Given the description of an element on the screen output the (x, y) to click on. 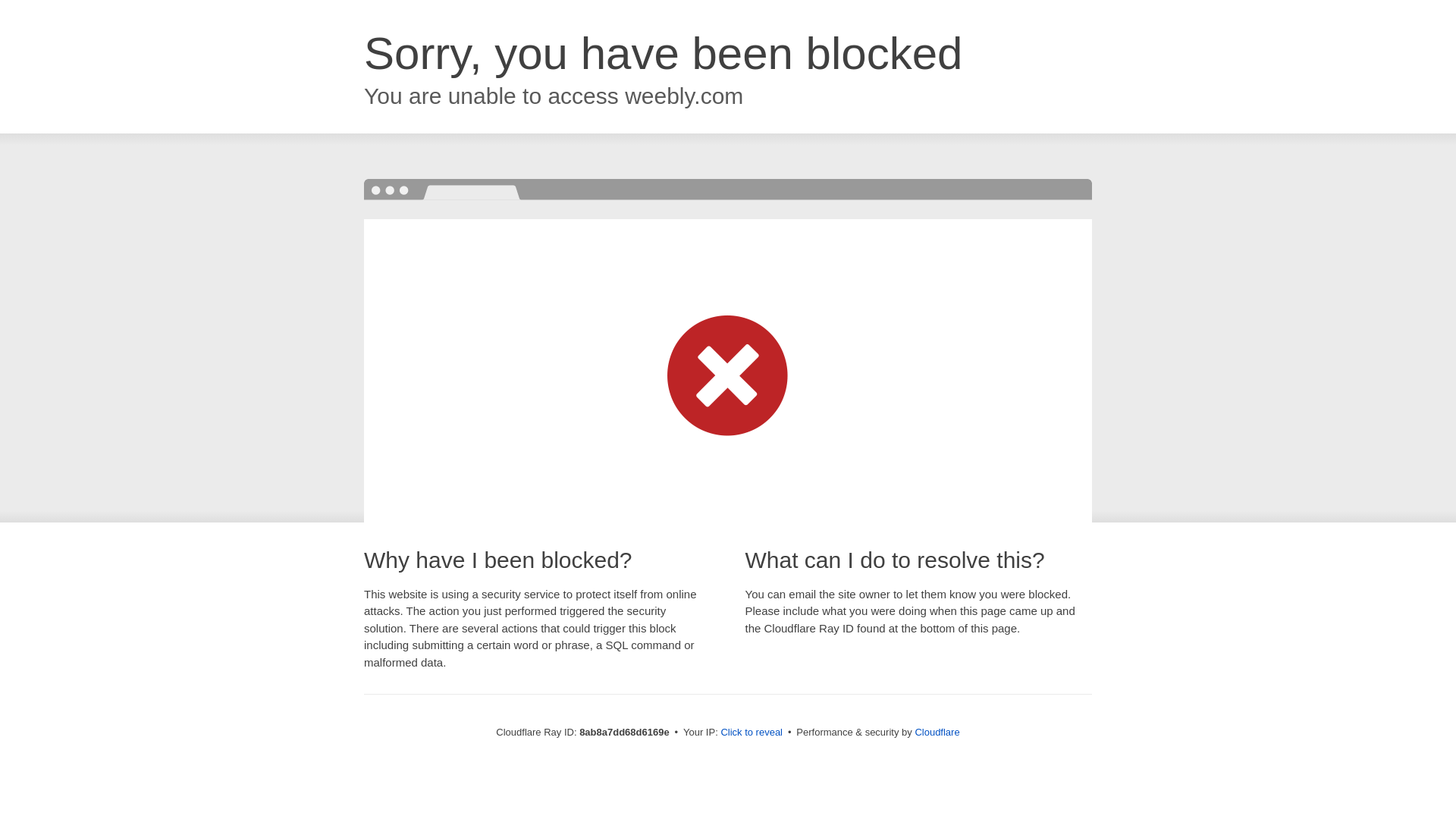
Cloudflare (936, 731)
Click to reveal (751, 732)
